Given the description of an element on the screen output the (x, y) to click on. 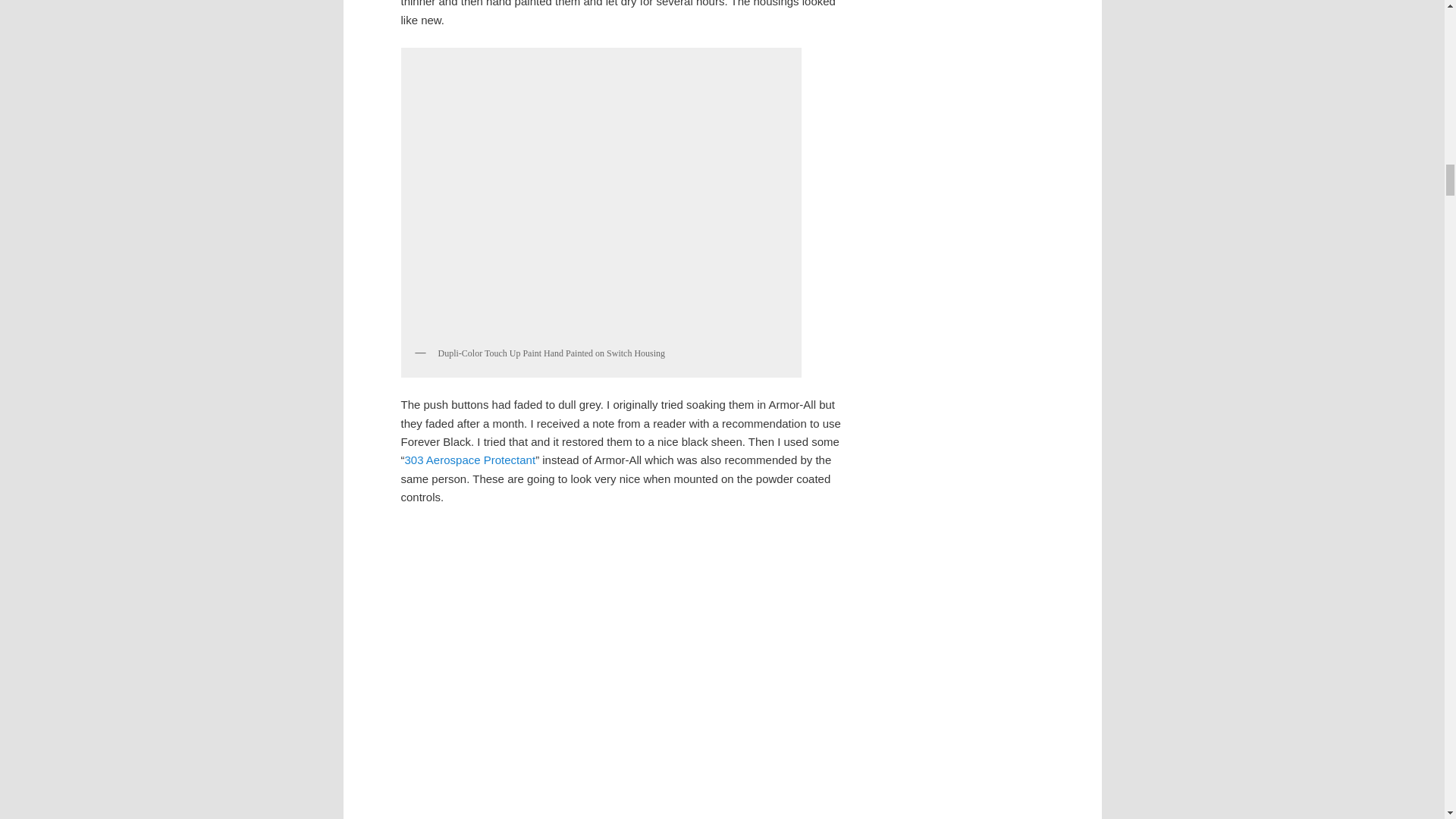
303 Aerospace Protectant (469, 459)
